Given the description of an element on the screen output the (x, y) to click on. 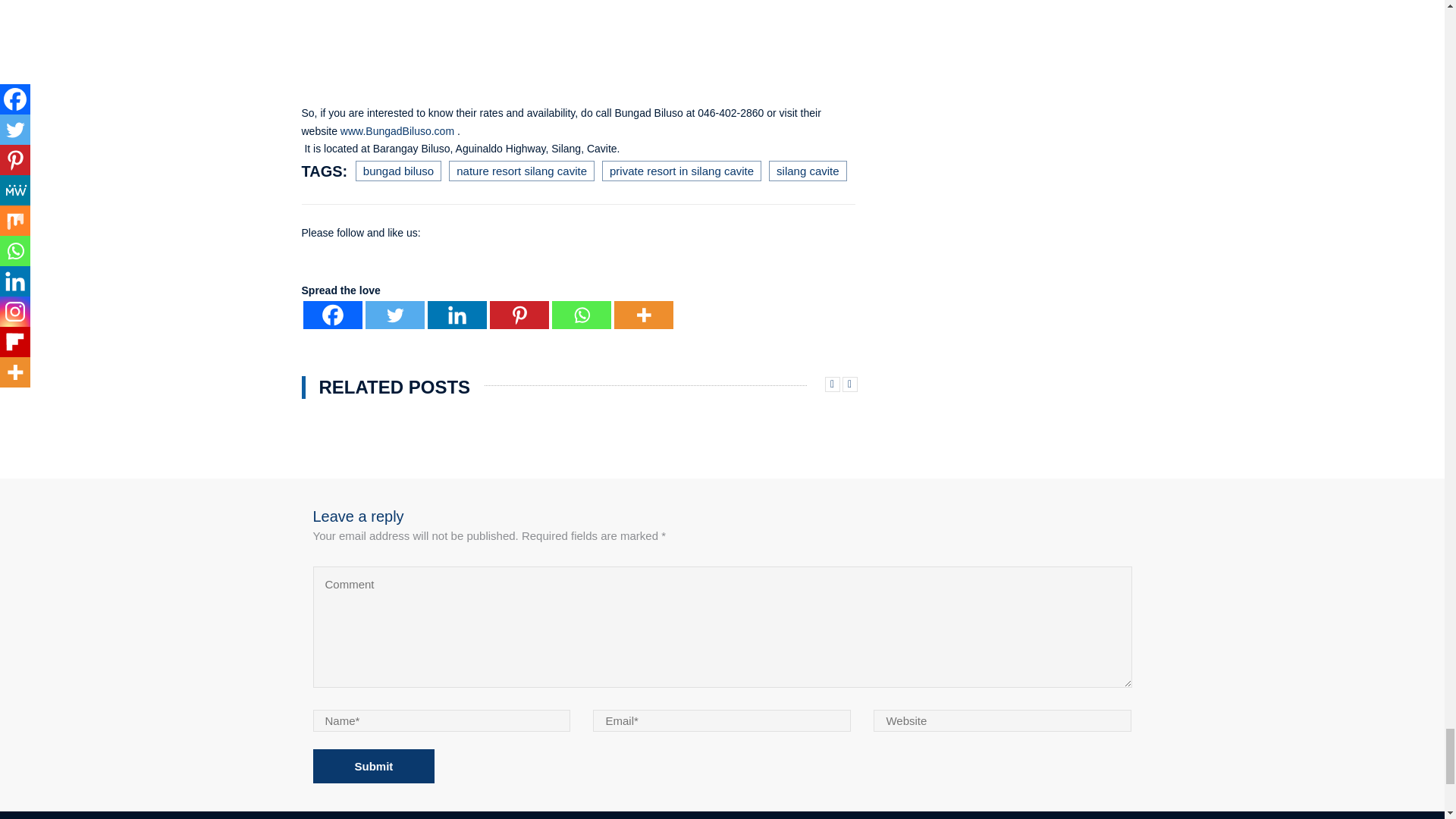
Linkedin (457, 314)
Facebook (332, 314)
Pinterest (518, 314)
Twitter (395, 314)
Submit (373, 765)
